Given the description of an element on the screen output the (x, y) to click on. 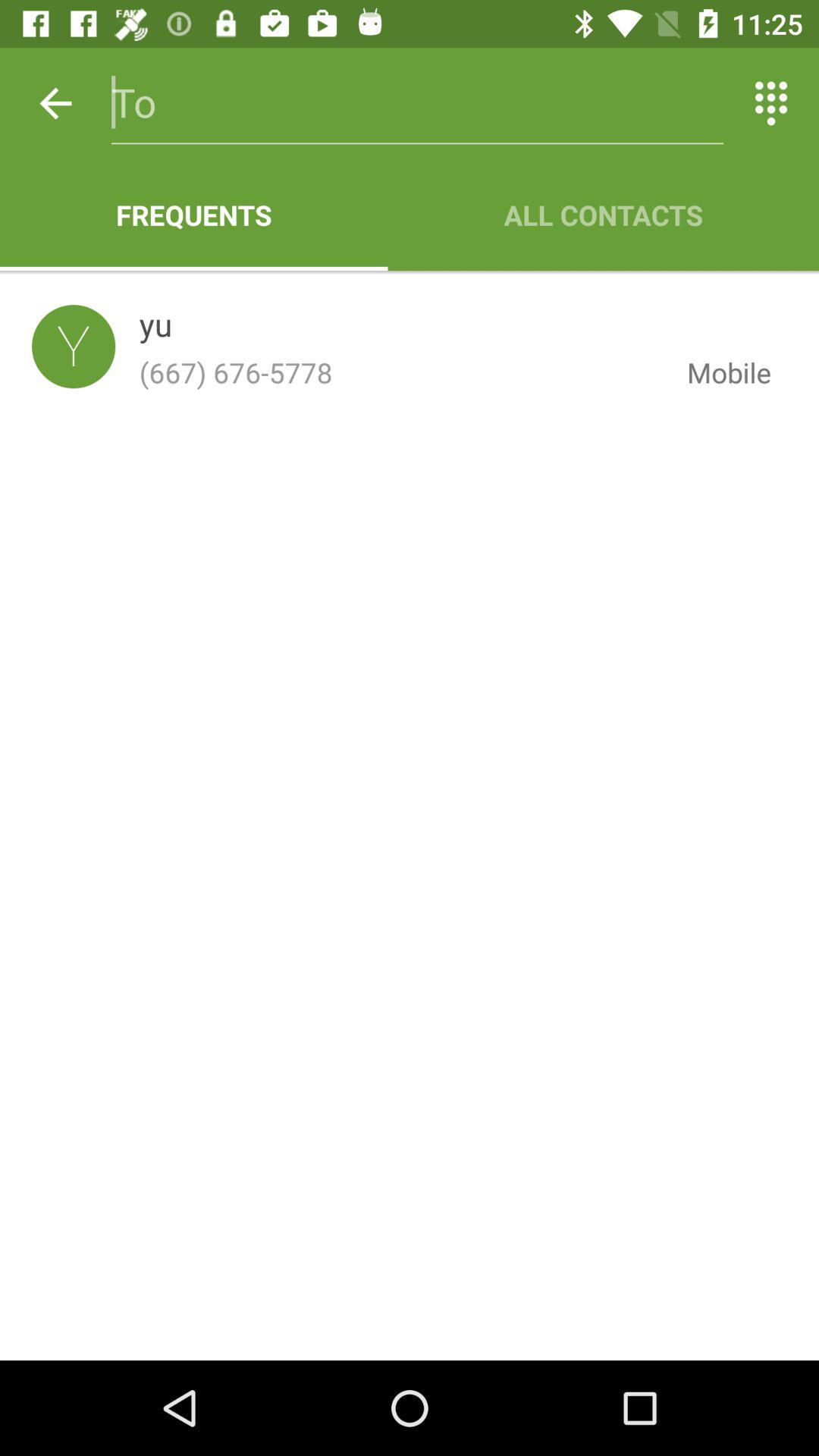
select the app above frequents item (417, 103)
